Given the description of an element on the screen output the (x, y) to click on. 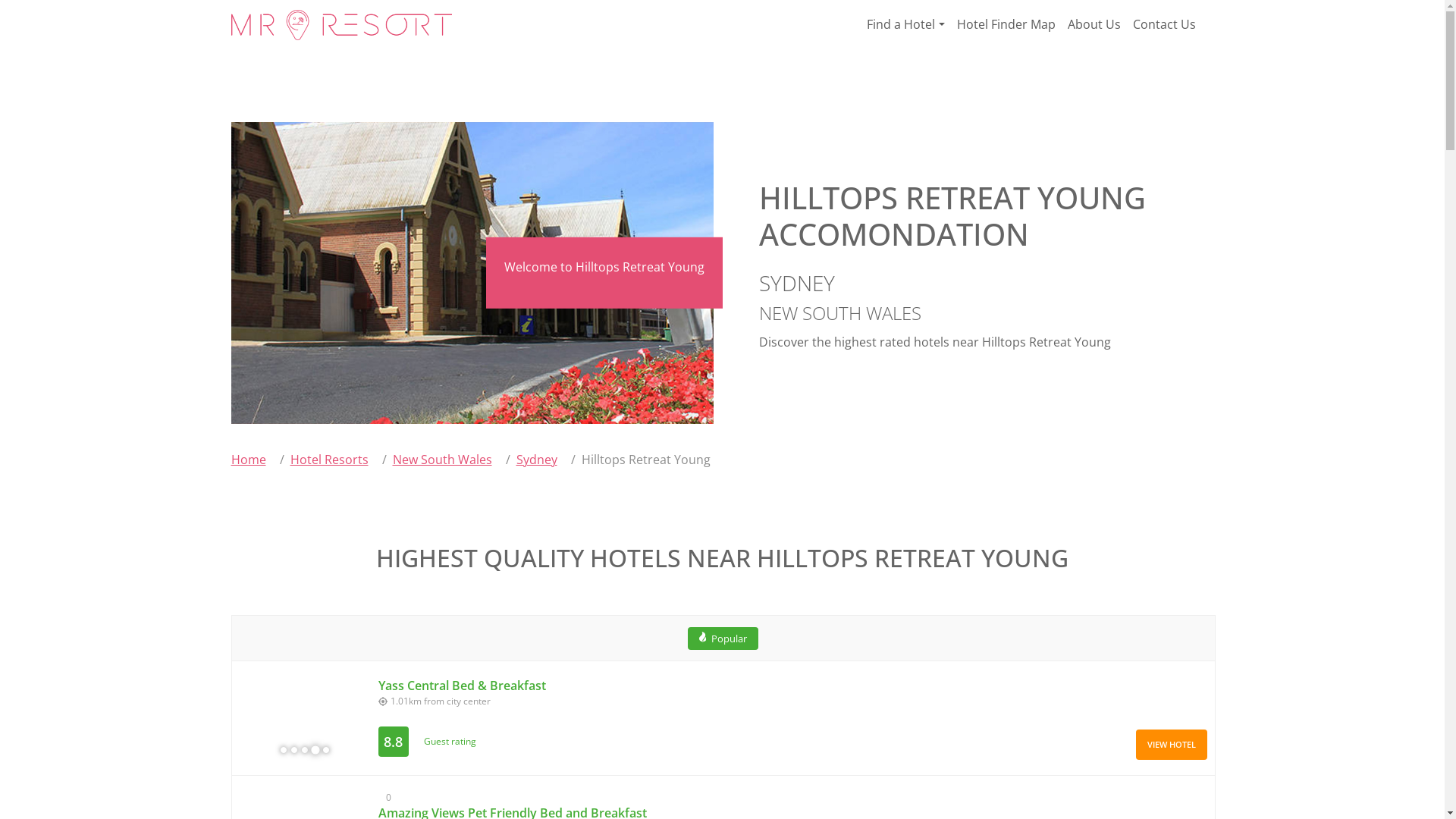
Home Element type: text (247, 459)
New South Wales Element type: text (442, 459)
Sydney Element type: text (535, 459)
Contact Us Element type: text (1163, 23)
About Us Element type: text (1093, 23)
Hotel Finder Map Element type: text (1005, 23)
Find a Hotel Element type: text (905, 23)
Hotel Resorts Element type: text (328, 459)
